Given the description of an element on the screen output the (x, y) to click on. 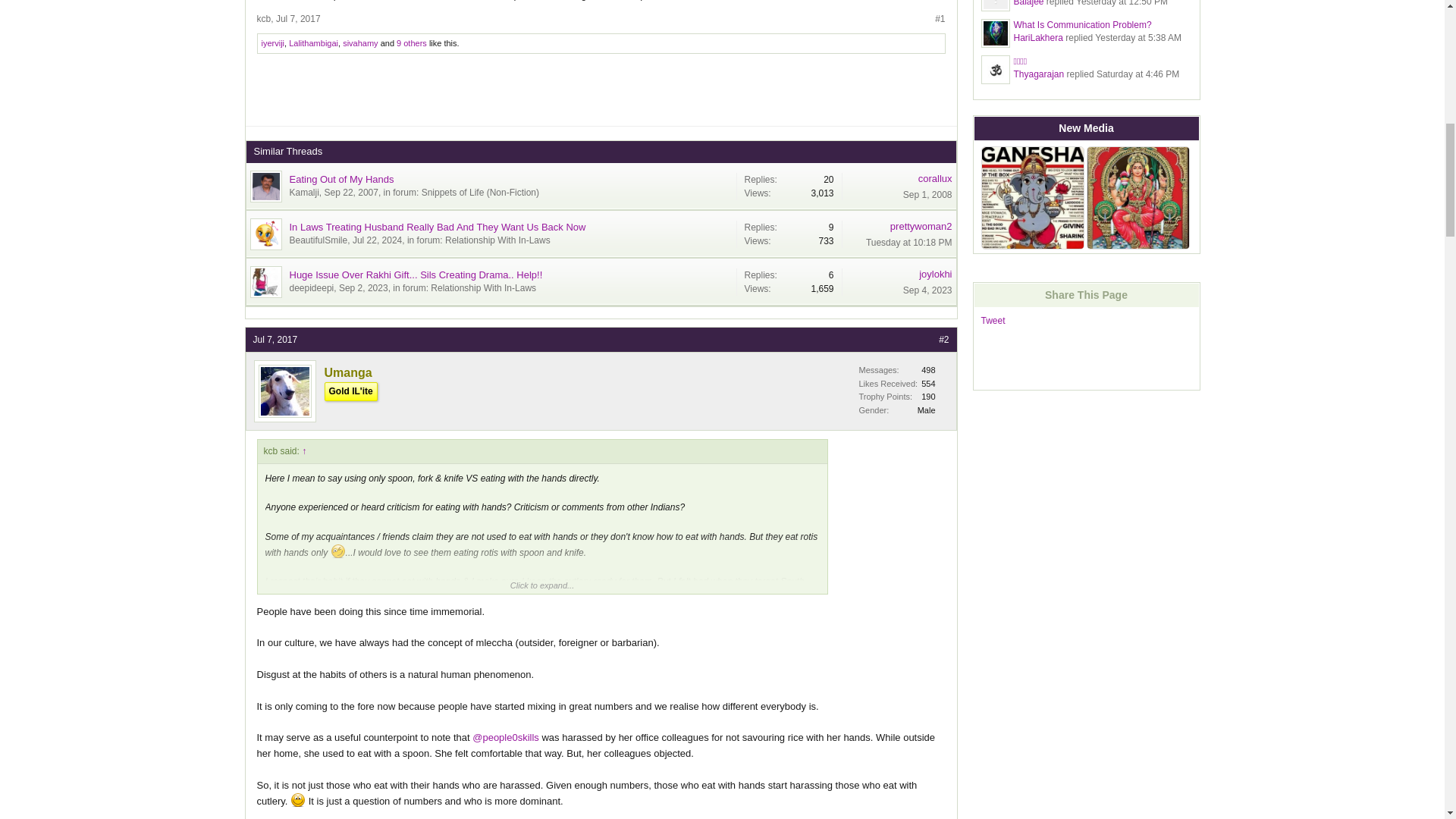
Sep 22, 2007 at 11:19 AM (351, 192)
Sep 1, 2008 at 3:56 AM (927, 194)
Thread starter (303, 192)
Thread starter (318, 240)
Permalink (298, 18)
